Given the description of an element on the screen output the (x, y) to click on. 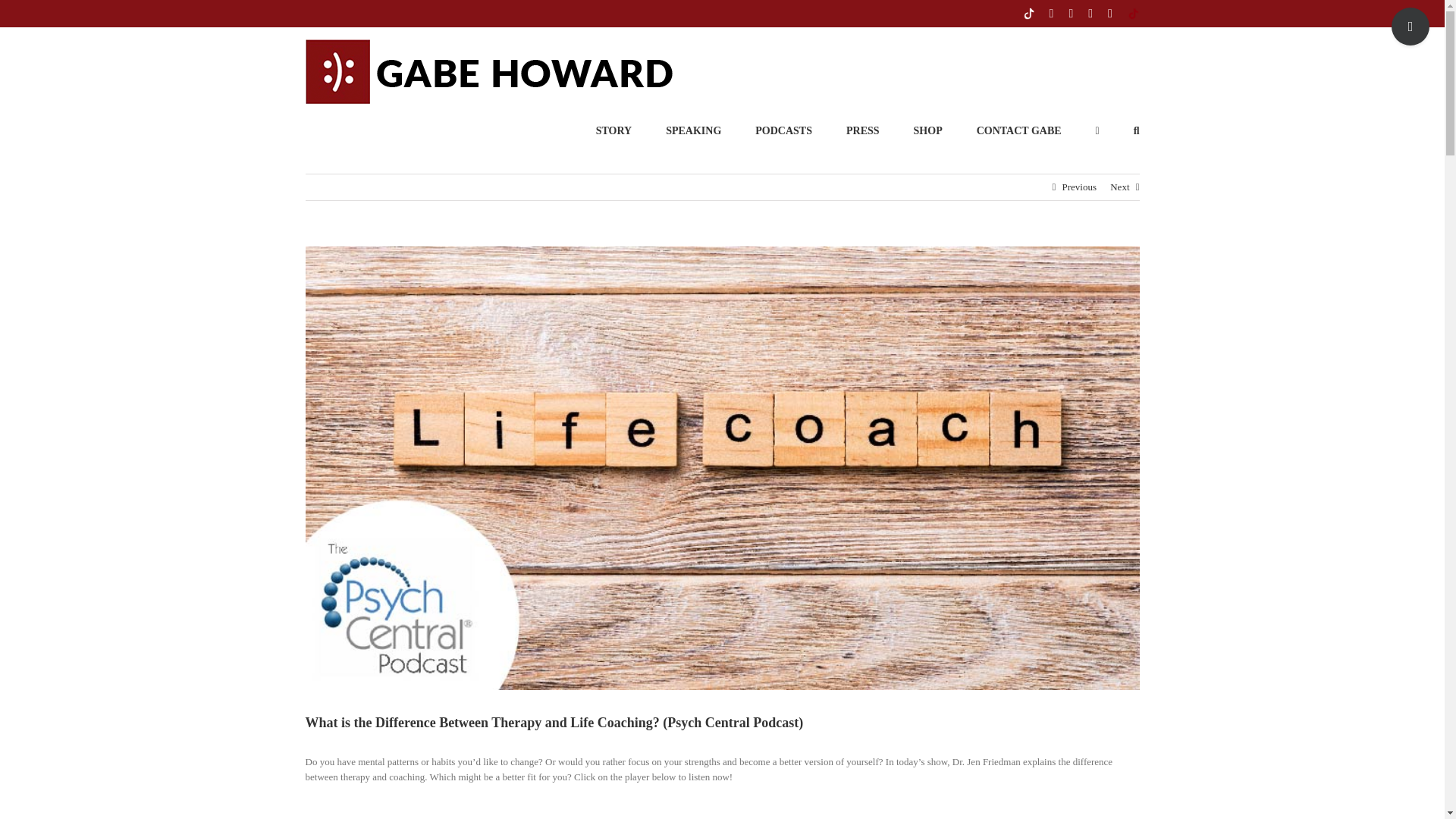
SPEAKING (692, 131)
CONTACT GABE (1018, 131)
podcast (783, 131)
Previous (1078, 186)
PODCASTS (783, 131)
